Given the description of an element on the screen output the (x, y) to click on. 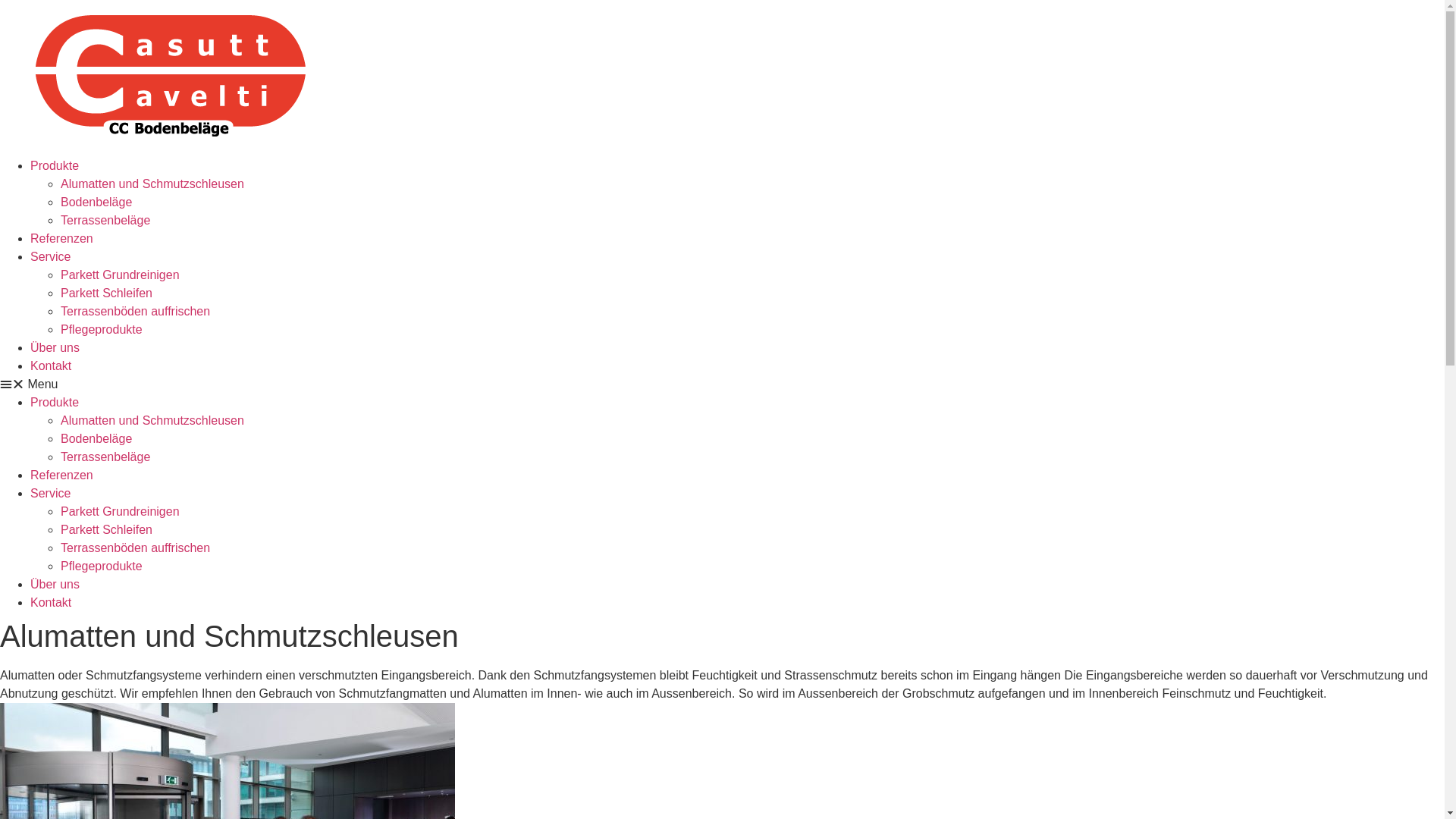
Pflegeprodukte Element type: text (101, 329)
Pflegeprodukte Element type: text (101, 565)
Parkett Grundreinigen Element type: text (119, 511)
Parkett Schleifen Element type: text (106, 292)
Service Element type: text (50, 256)
Referenzen Element type: text (61, 238)
Kontakt Element type: text (50, 602)
Service Element type: text (50, 492)
Kontakt Element type: text (50, 365)
Parkett Grundreinigen Element type: text (119, 274)
Parkett Schleifen Element type: text (106, 529)
Produkte Element type: text (54, 401)
Produkte Element type: text (54, 165)
Alumatten und Schmutzschleusen Element type: text (152, 420)
Referenzen Element type: text (61, 474)
Alumatten und Schmutzschleusen Element type: text (152, 183)
